Given the description of an element on the screen output the (x, y) to click on. 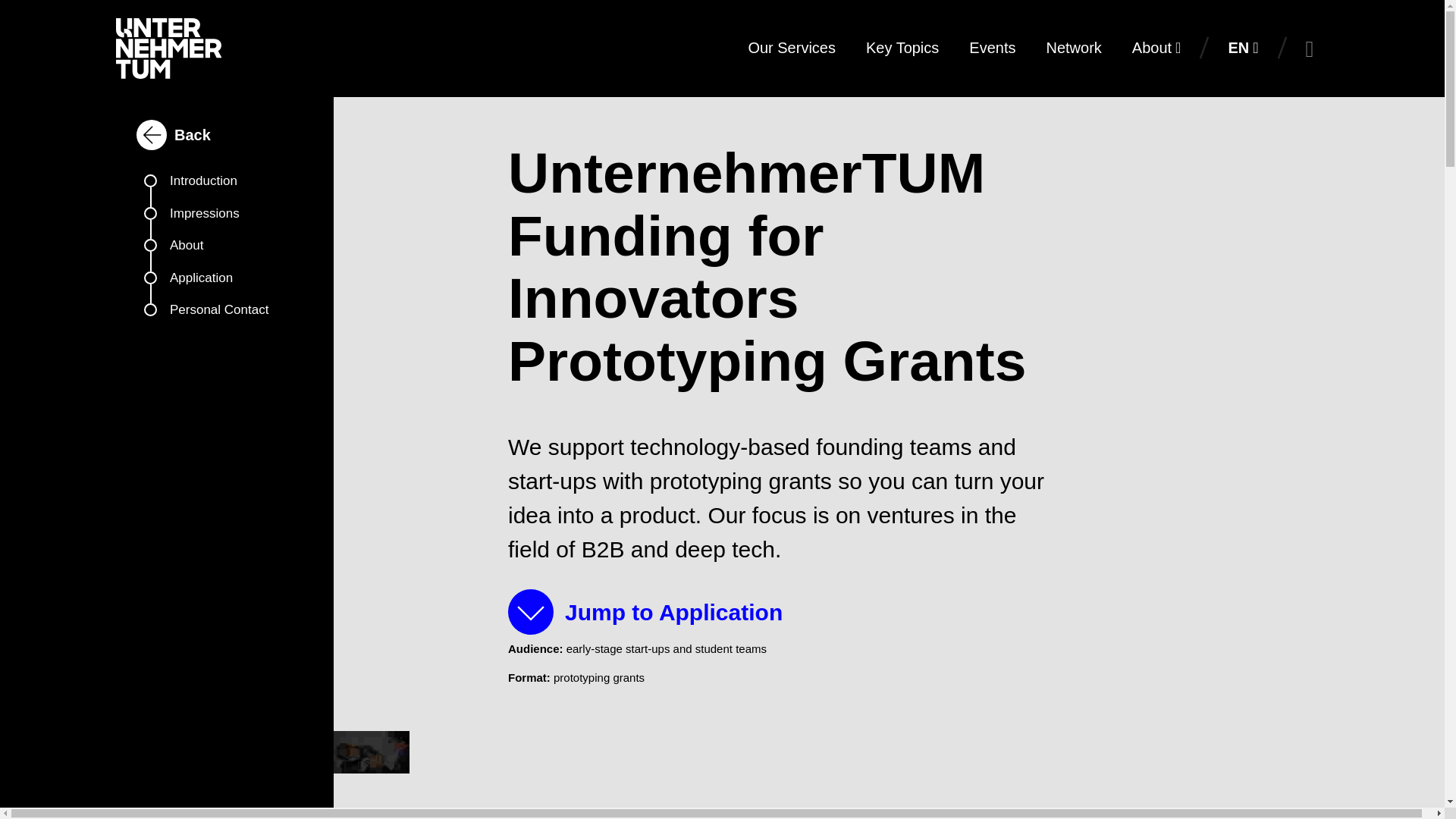
About (227, 251)
Our Services (791, 47)
Network (1073, 47)
Impressions (227, 219)
Key Topics (901, 47)
Personal Contact (227, 316)
Jump to Application (650, 611)
Introduction (227, 187)
About (1156, 47)
EN (1242, 47)
Application (227, 284)
Back (177, 134)
Events (991, 47)
